Given the description of an element on the screen output the (x, y) to click on. 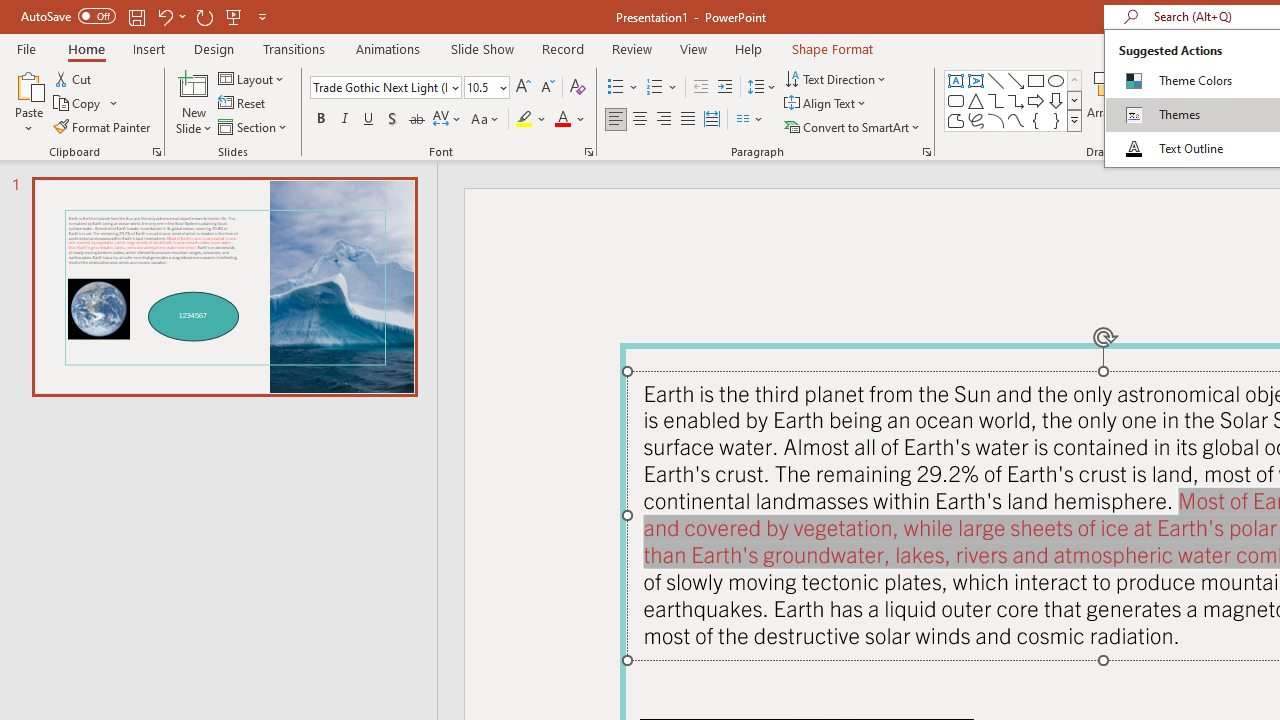
Clear Formatting (577, 87)
Underline (369, 119)
Office Clipboard... (156, 151)
Paragraph... (926, 151)
Reset (243, 103)
Line Spacing (762, 87)
Distributed (712, 119)
Shape Format (832, 48)
Shape Fill Aqua, Accent 2 (1188, 78)
Align Text (826, 103)
